Given the description of an element on the screen output the (x, y) to click on. 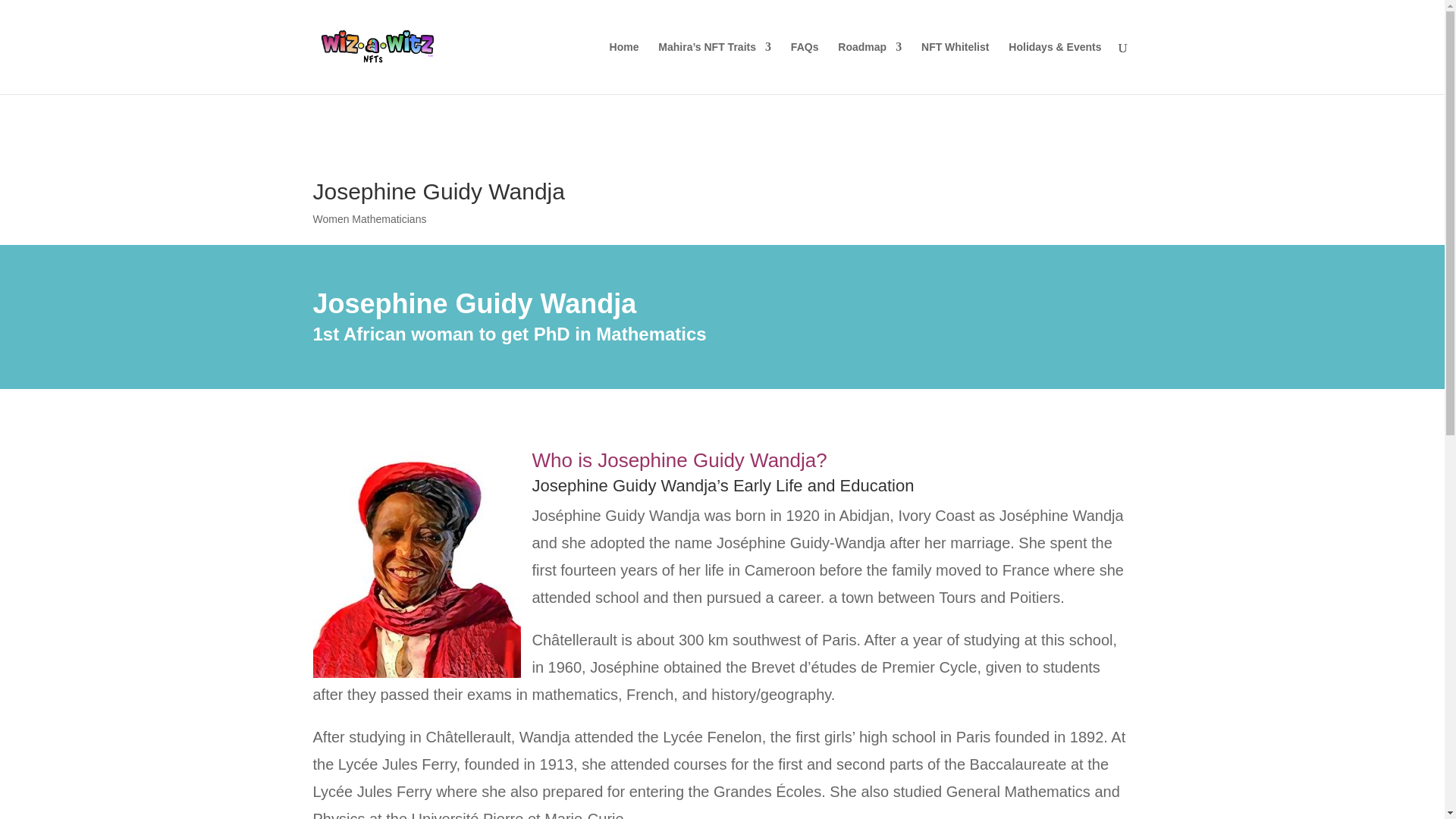
NFT Whitelist (954, 67)
Women Mathematicians (369, 218)
Roadmap (869, 67)
